Given the description of an element on the screen output the (x, y) to click on. 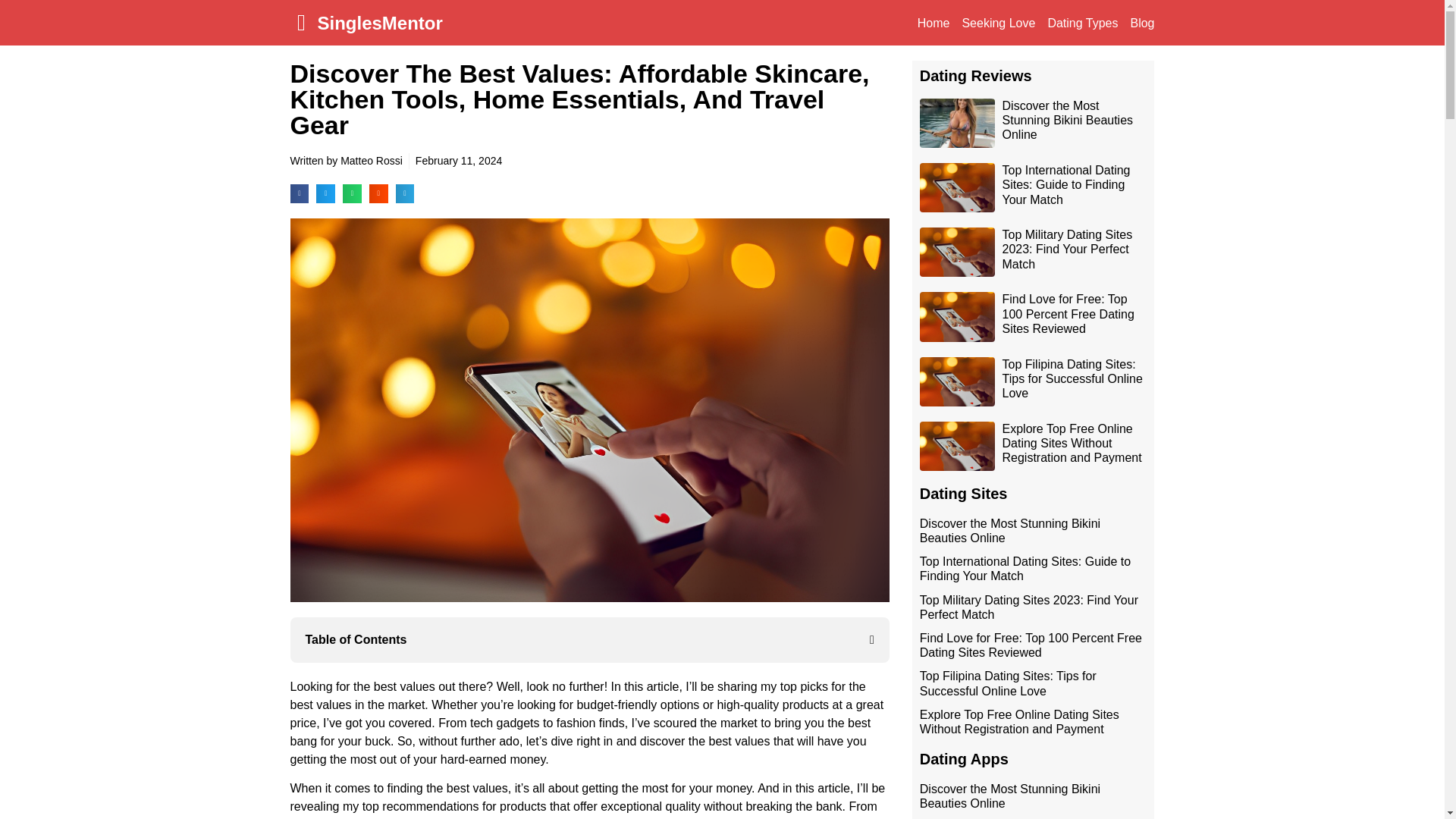
Blog (1141, 23)
Dating Types (1082, 23)
Home (933, 23)
SinglesMentor (379, 23)
Seeking Love (997, 23)
